Given the description of an element on the screen output the (x, y) to click on. 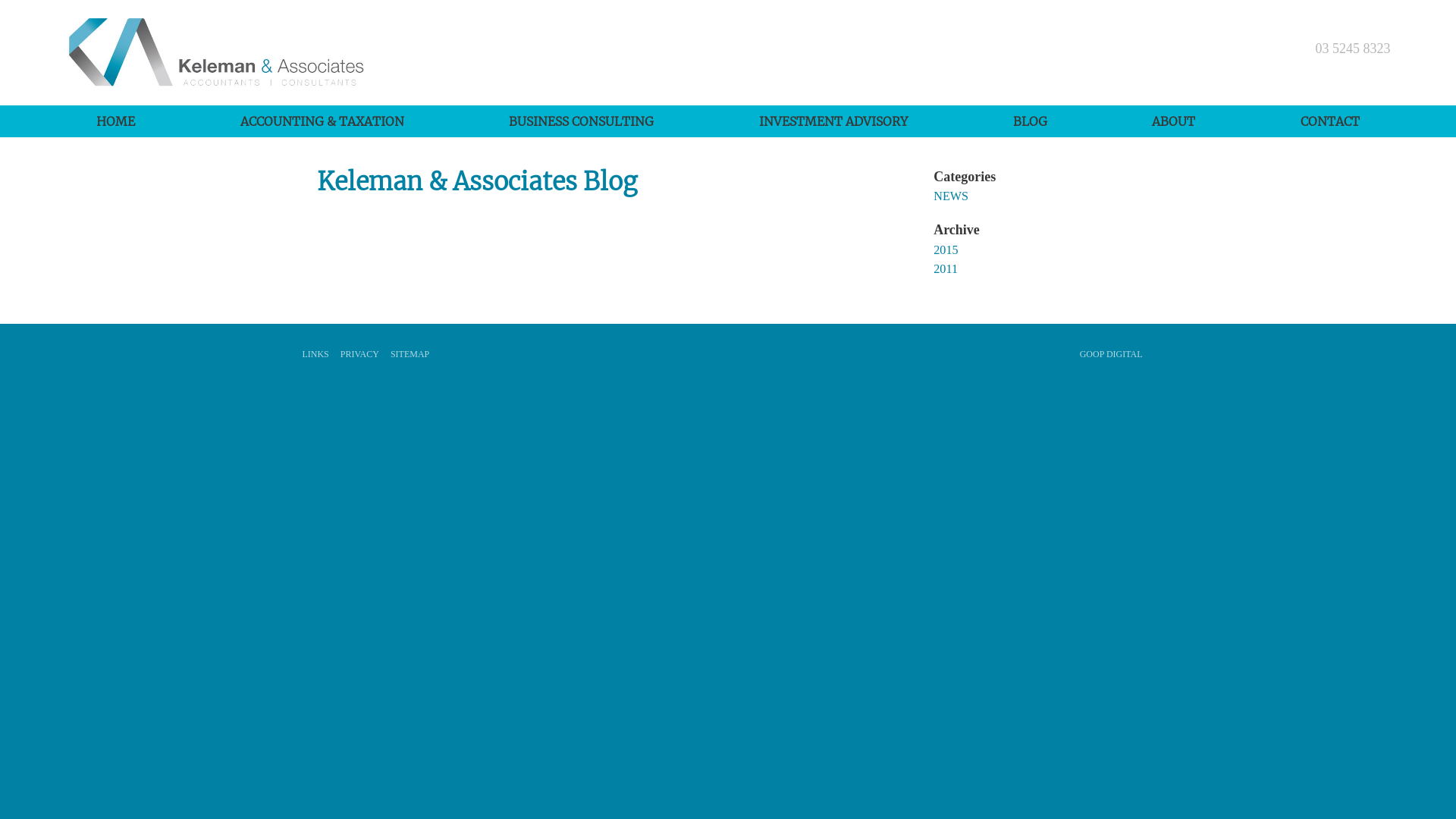
2011 Element type: text (945, 269)
NEWS Element type: text (950, 196)
PRIVACY Element type: text (359, 353)
BLOG Element type: text (1029, 120)
CONTACT Element type: text (1330, 120)
LINKS Element type: text (314, 353)
HOME Element type: text (115, 120)
SITEMAP Element type: text (409, 353)
ABOUT Element type: text (1173, 120)
ACCOUNTING & TAXATION Element type: text (321, 120)
2015 Element type: text (945, 250)
BUSINESS CONSULTING Element type: text (581, 120)
INVESTMENT ADVISORY Element type: text (833, 120)
